Given the description of an element on the screen output the (x, y) to click on. 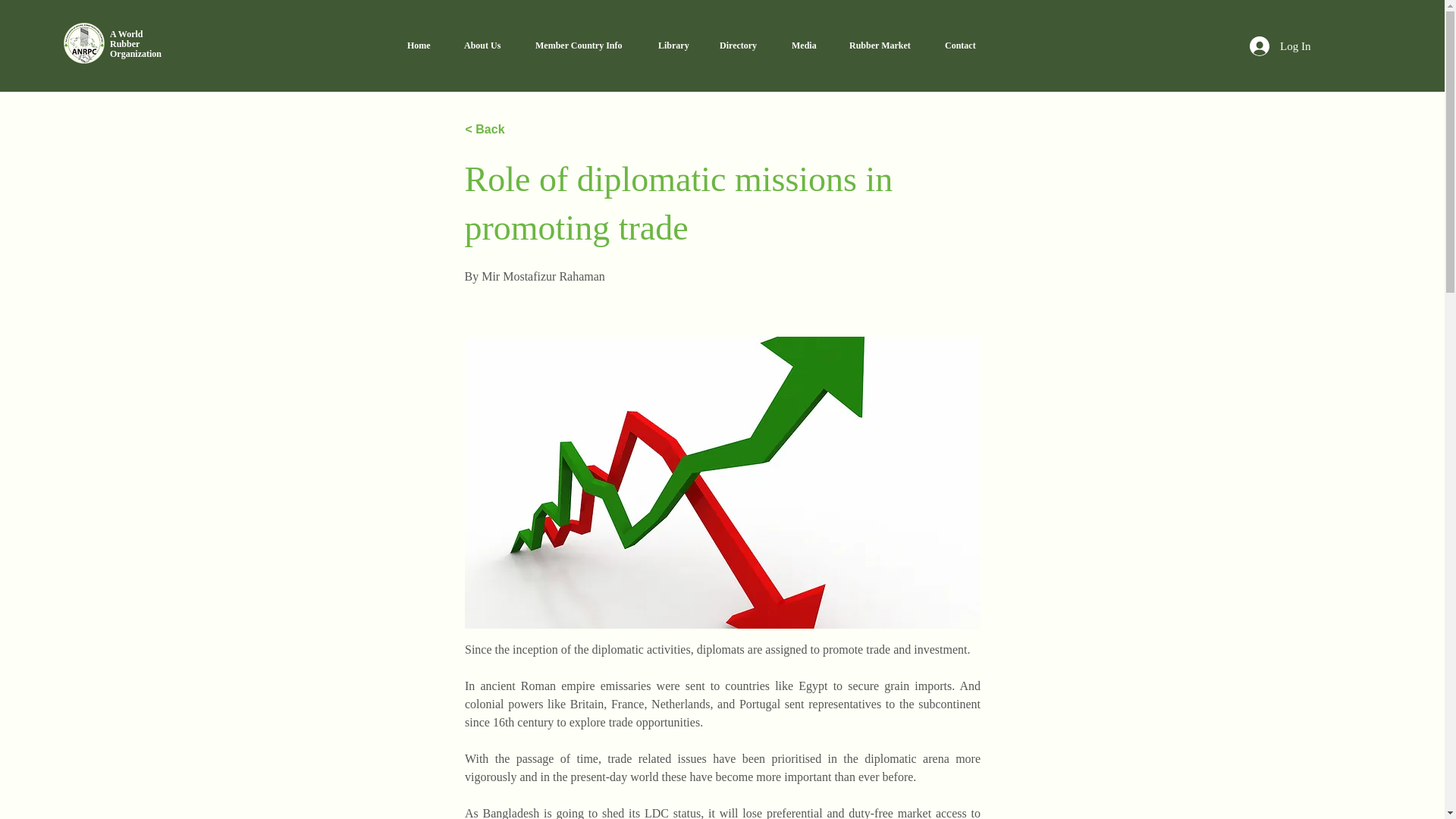
Home (423, 45)
Contact (965, 45)
Log In (135, 43)
Rubber Market (1279, 45)
